Given the description of an element on the screen output the (x, y) to click on. 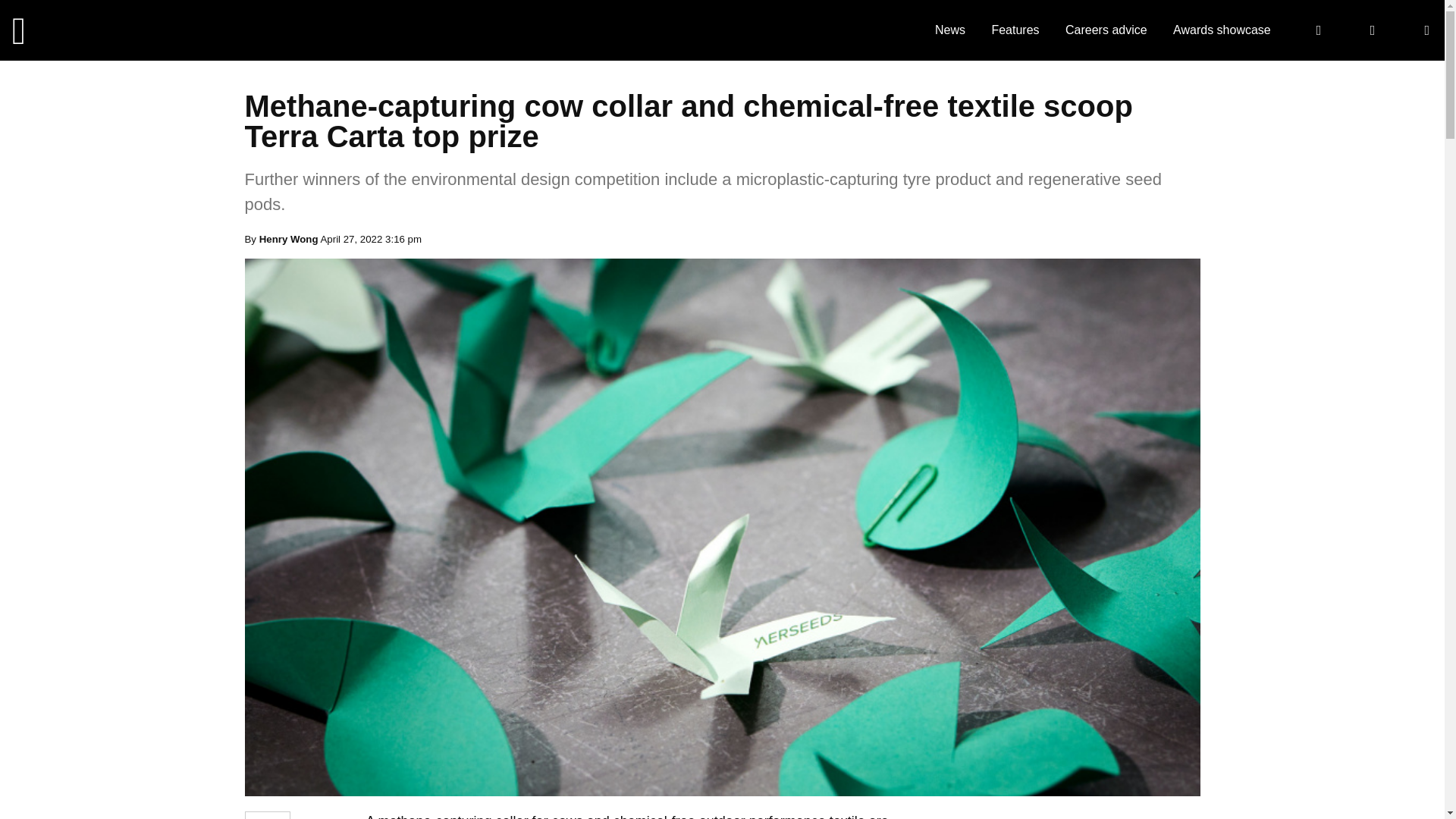
Features (1015, 29)
Henry Wong (288, 238)
News (949, 29)
Posts by Henry Wong (288, 238)
Awards showcase (1222, 29)
Careers advice (1106, 29)
